Given the description of an element on the screen output the (x, y) to click on. 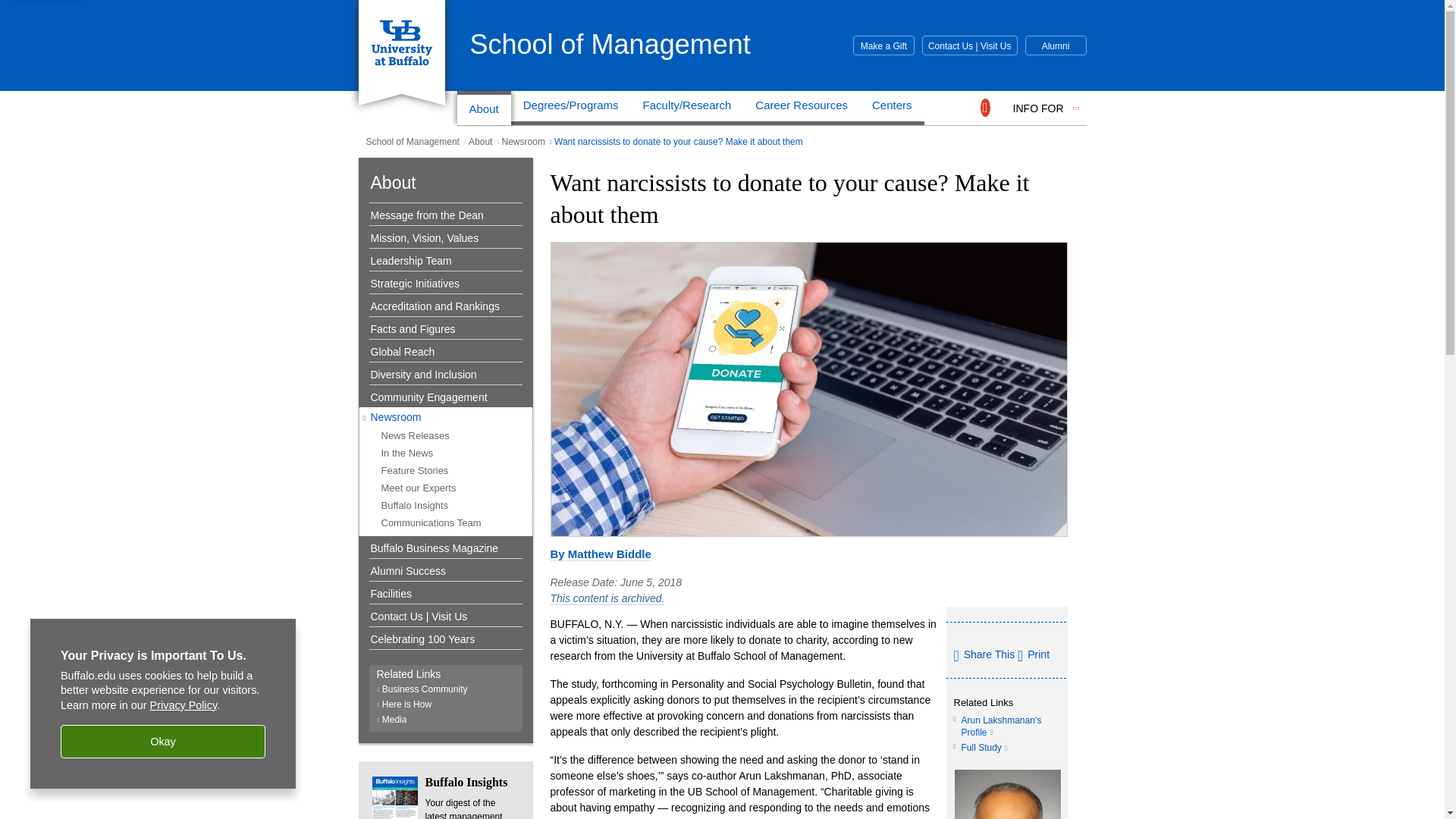
Make a Gift (883, 45)
Alumni (1055, 45)
This link opens a page in a new window or tab. (983, 746)
School of Management (610, 43)
This link opens a page in a new window or tab. (1001, 724)
About (484, 107)
